Given the description of an element on the screen output the (x, y) to click on. 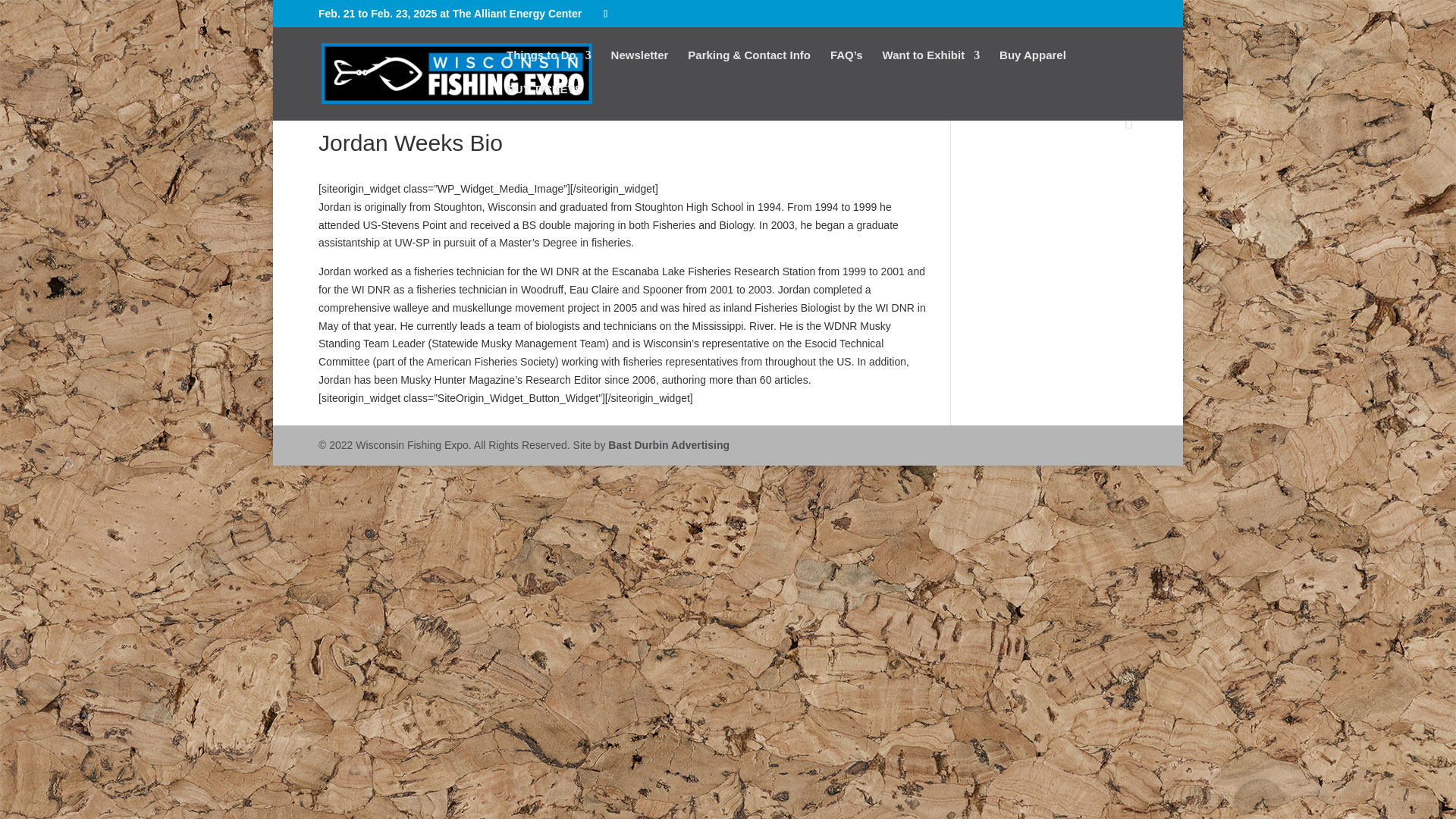
Newsletter (639, 66)
BUY TICKETS (544, 100)
Buy Apparel (1031, 66)
Things to Do (548, 66)
Want to Exhibit (930, 66)
